Given the description of an element on the screen output the (x, y) to click on. 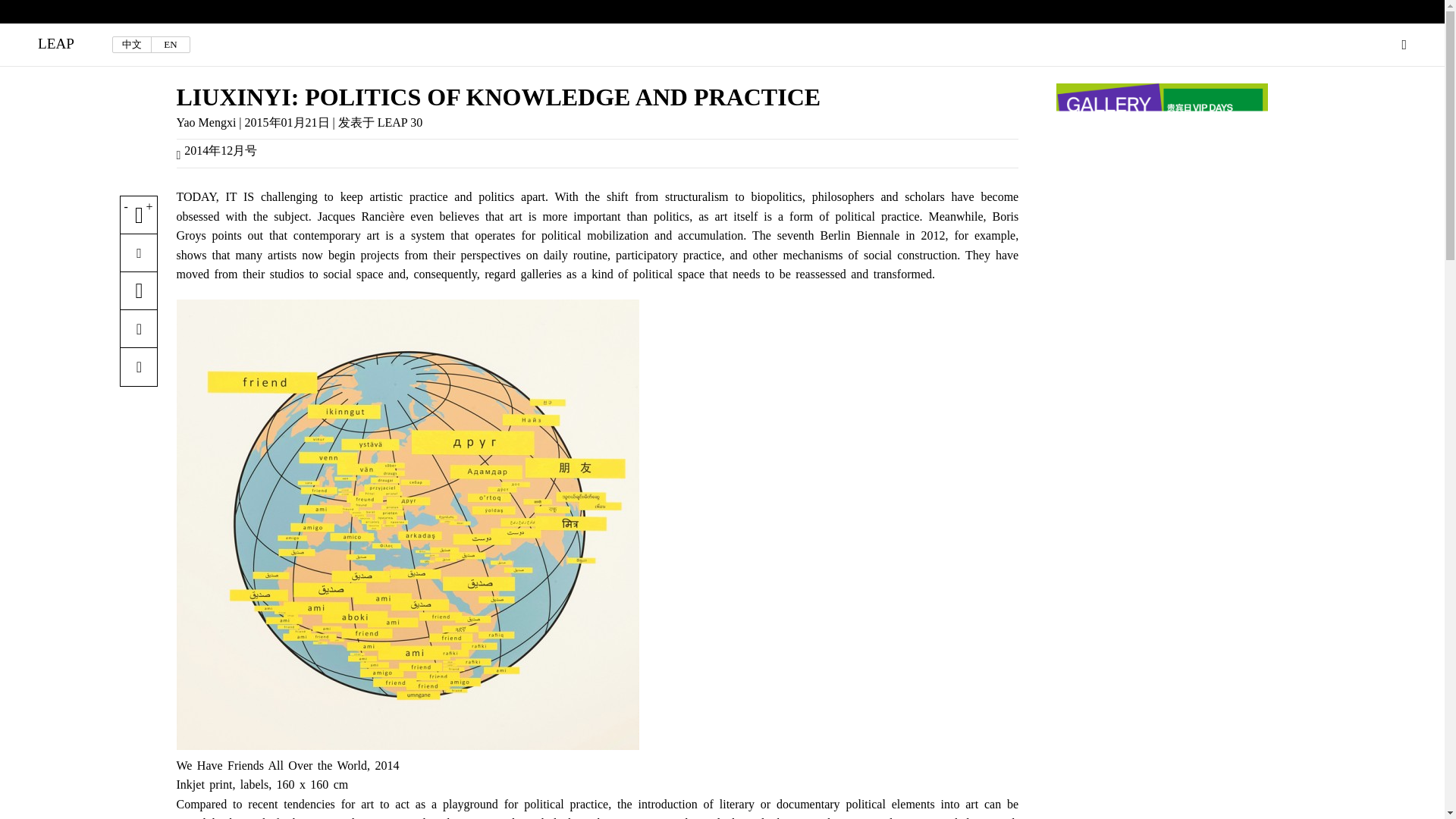
EN (170, 44)
LEAP 30 (399, 122)
LEAP (55, 43)
